Given the description of an element on the screen output the (x, y) to click on. 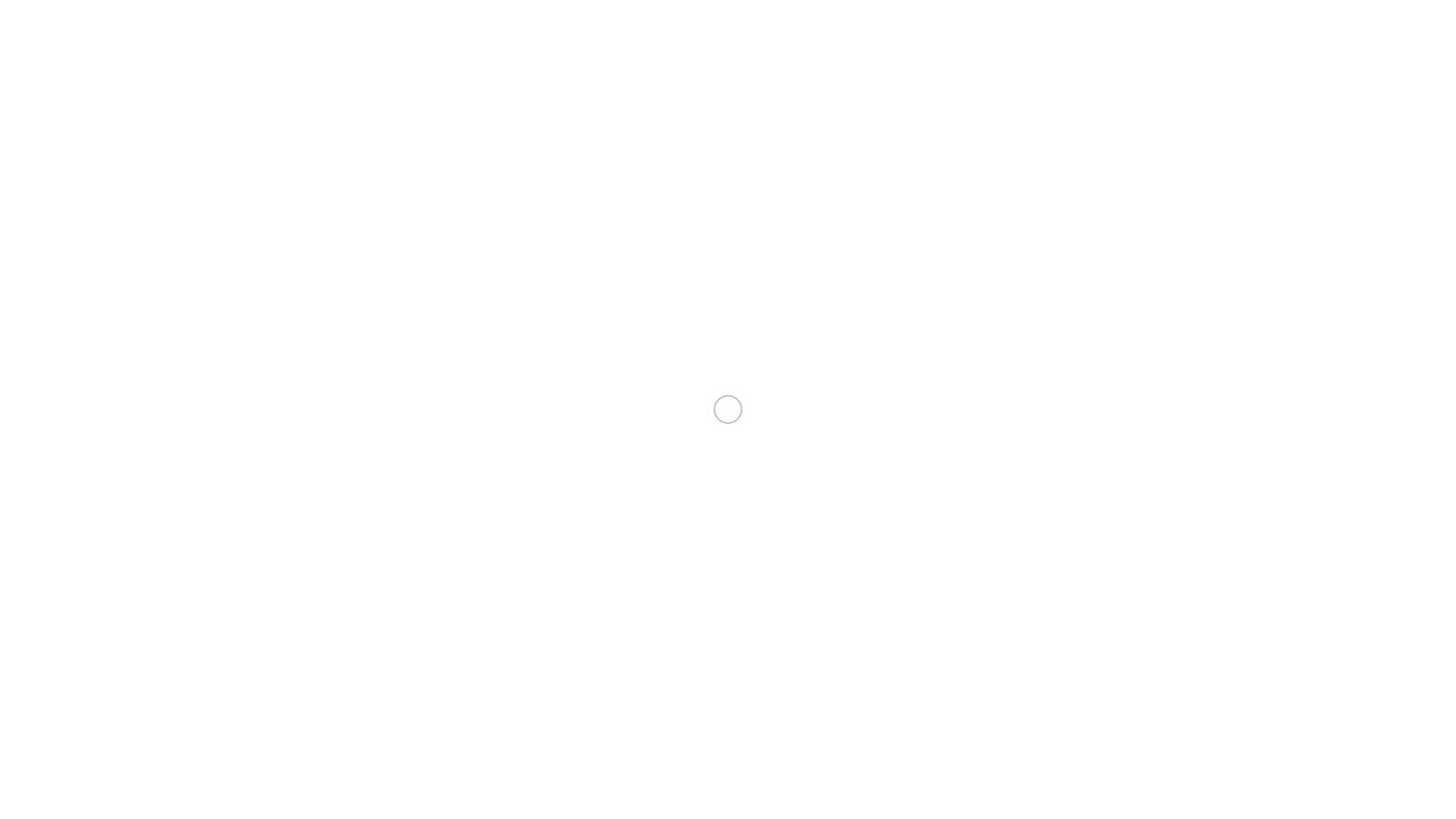
+375293654565 Element type: text (45, 12)
ideashop Element type: hover (722, 287)
